Given the description of an element on the screen output the (x, y) to click on. 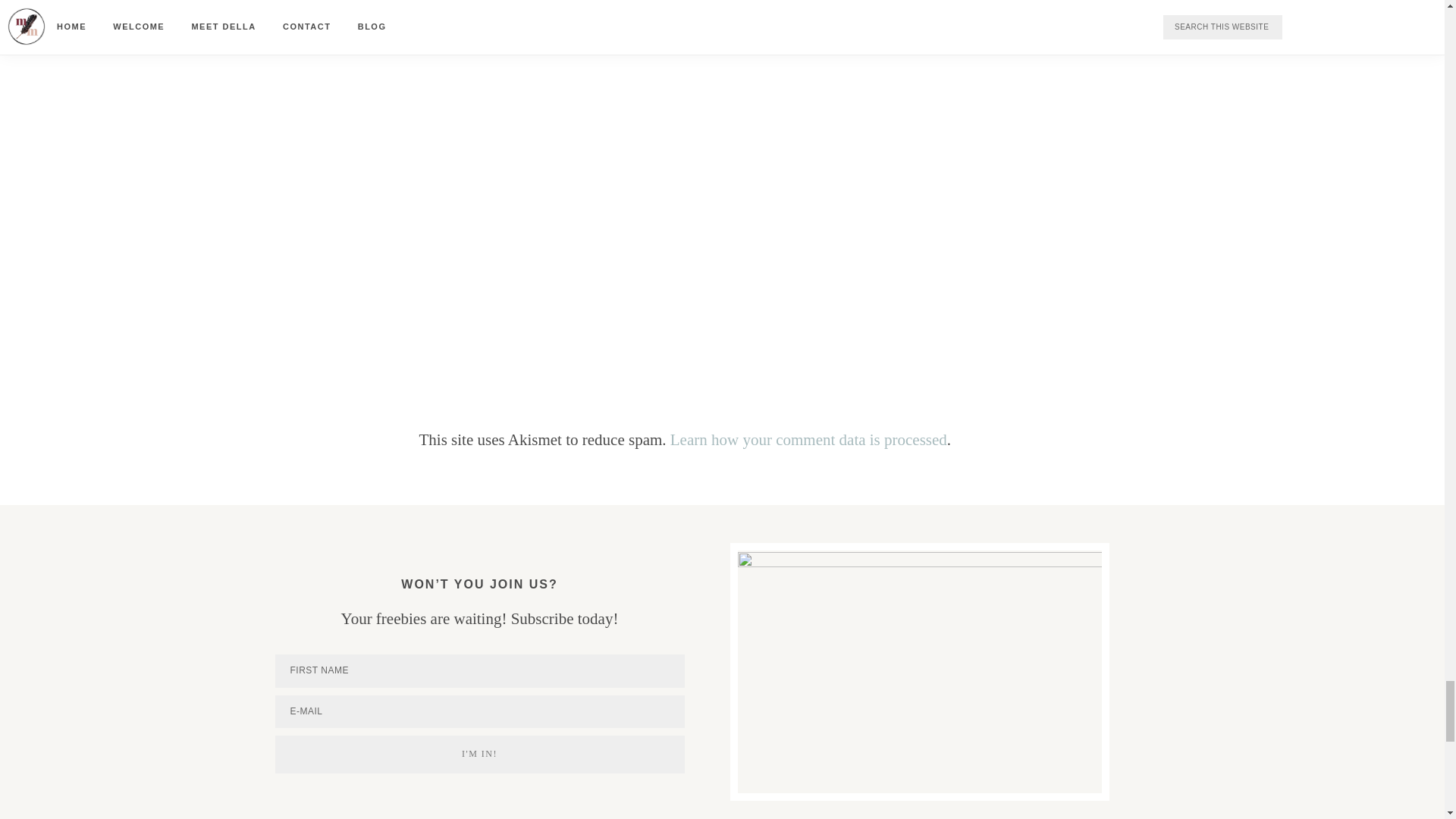
I'm in! (479, 754)
